Given the description of an element on the screen output the (x, y) to click on. 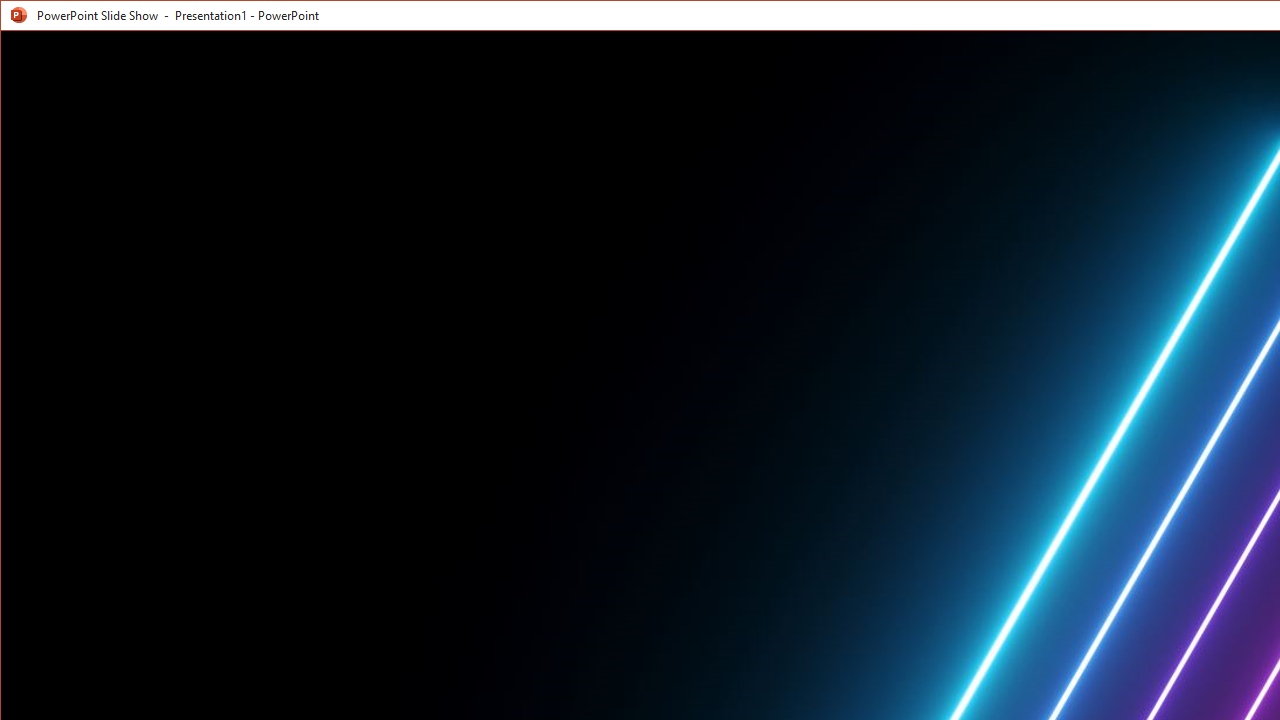
System (18, 18)
System (18, 18)
